Given the description of an element on the screen output the (x, y) to click on. 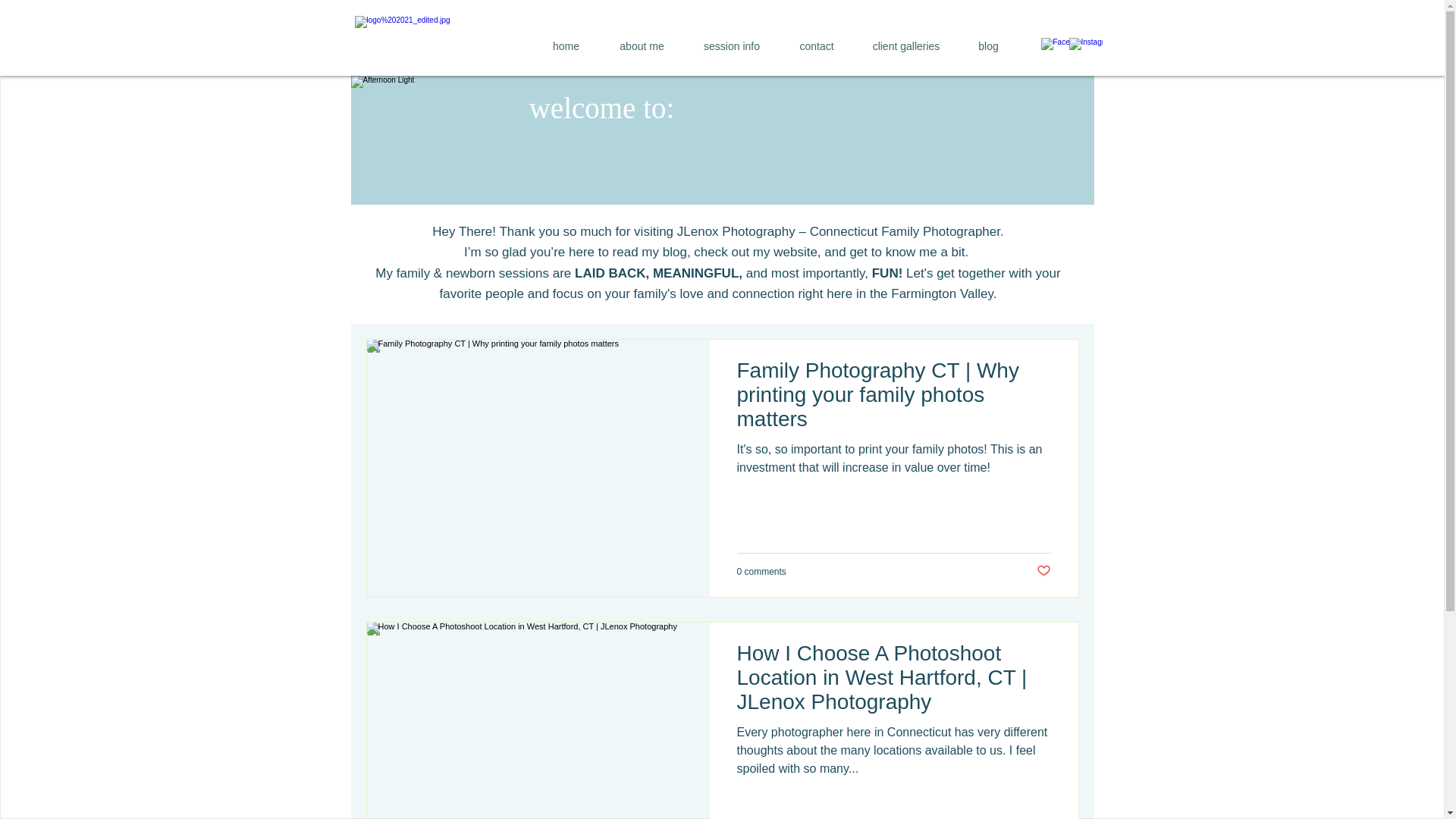
blog (987, 46)
home (565, 46)
about me (640, 46)
0 comments (761, 571)
client galleries (905, 46)
Post not marked as liked (1042, 571)
contact (815, 46)
